Given the description of an element on the screen output the (x, y) to click on. 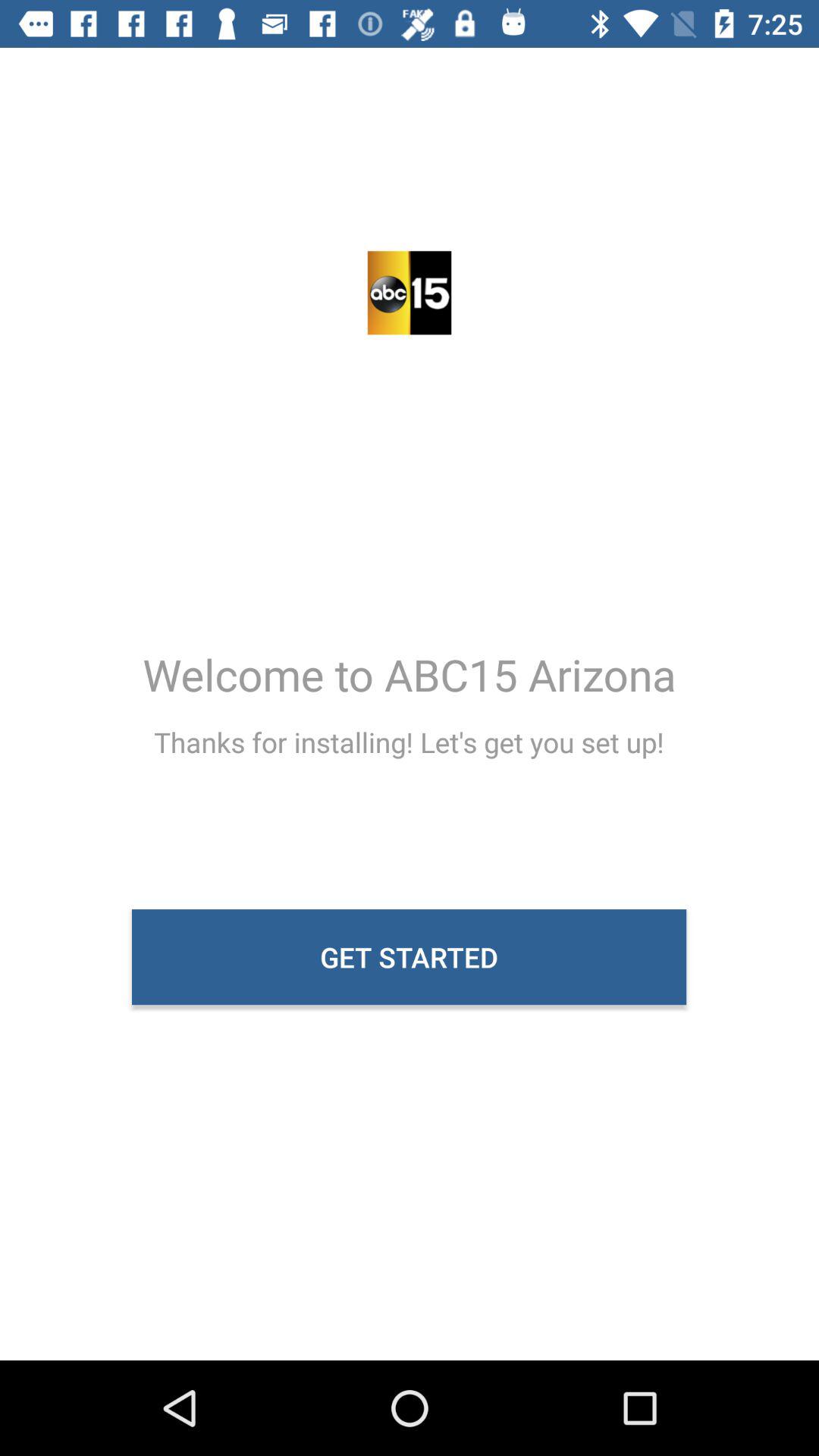
swipe to get started item (408, 956)
